Given the description of an element on the screen output the (x, y) to click on. 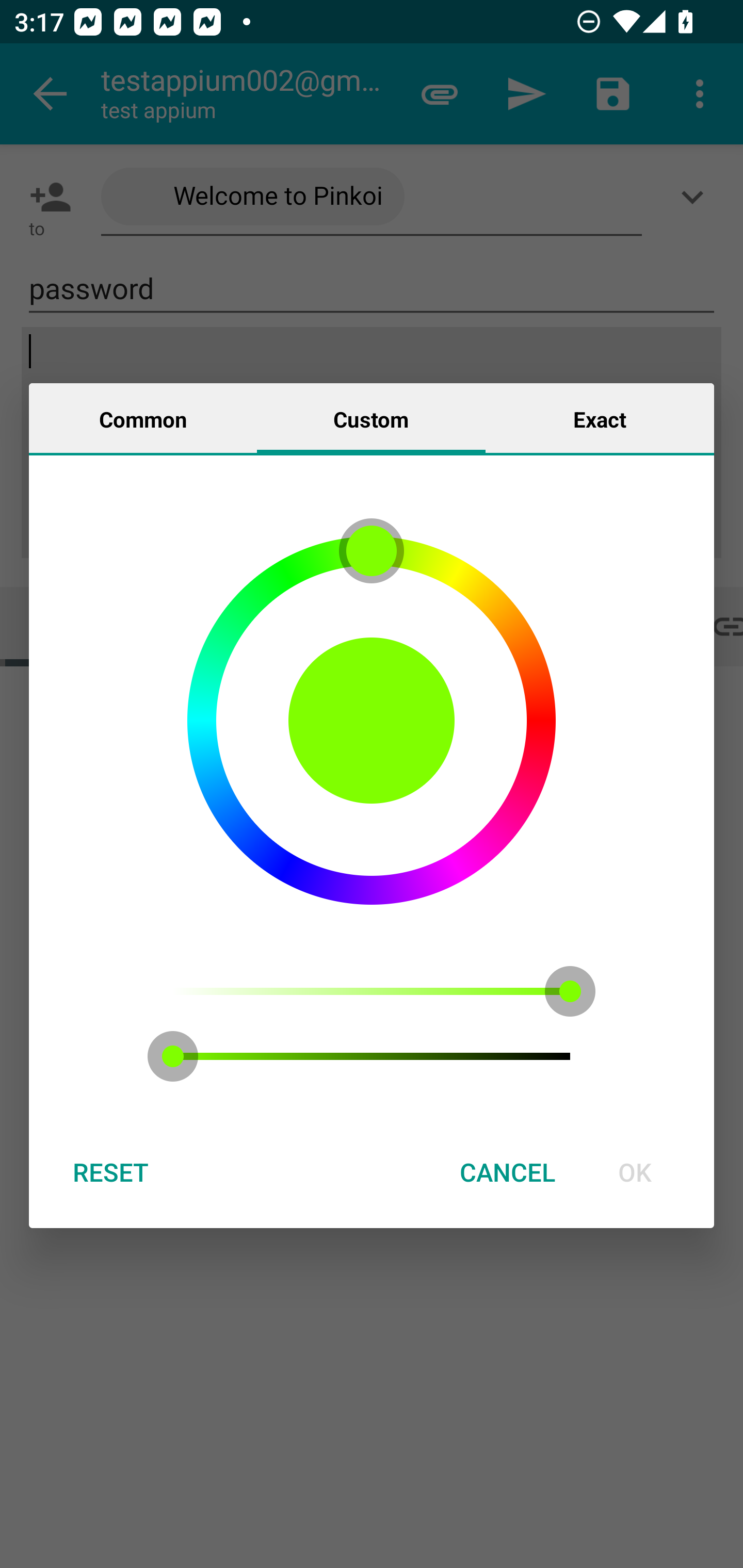
Common (142, 418)
Custom (371, 418)
Exact (599, 418)
RESET (110, 1171)
CANCEL (507, 1171)
OK (634, 1171)
